Given the description of an element on the screen output the (x, y) to click on. 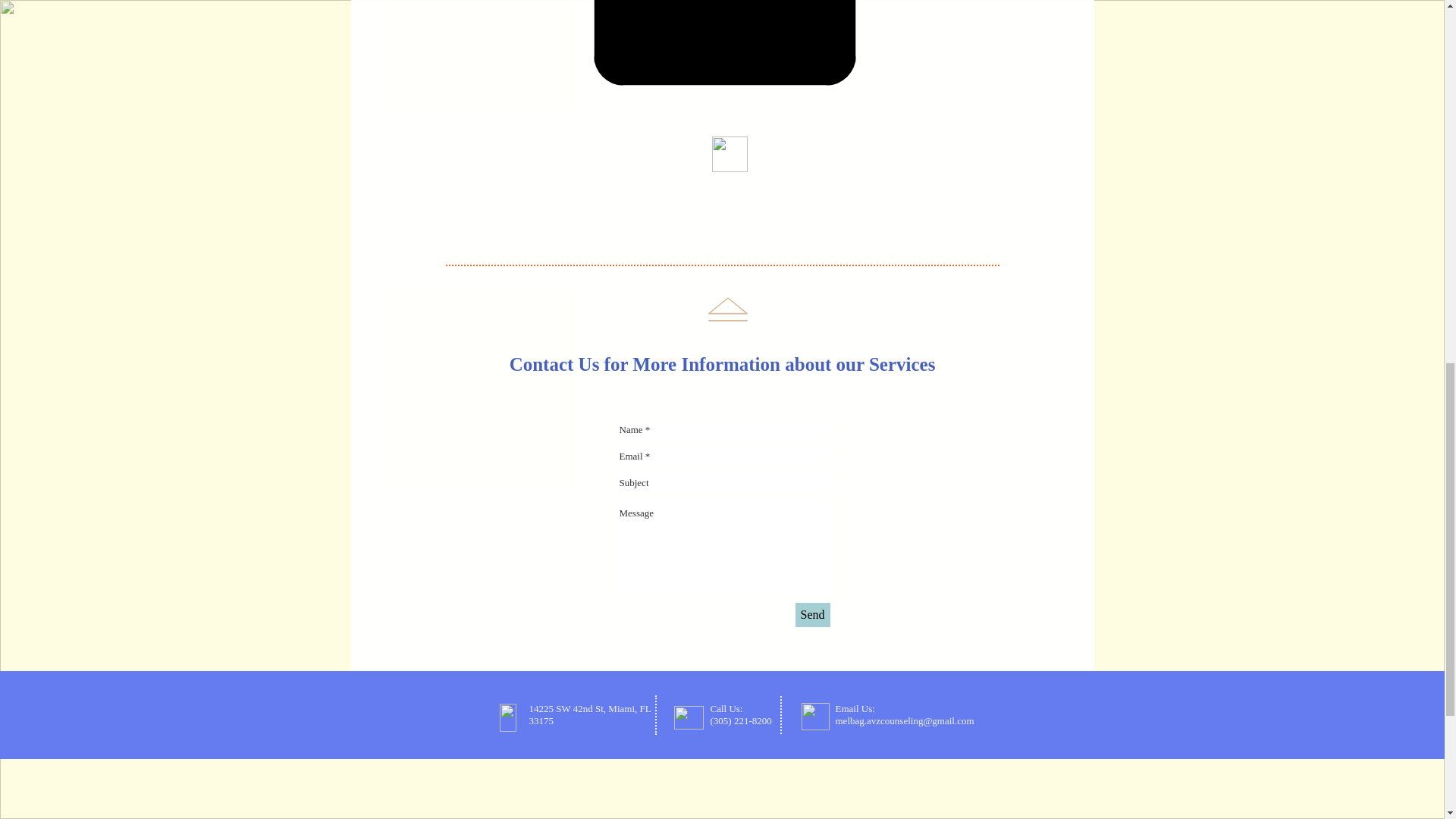
Send (811, 614)
Signature (724, 42)
